Given the description of an element on the screen output the (x, y) to click on. 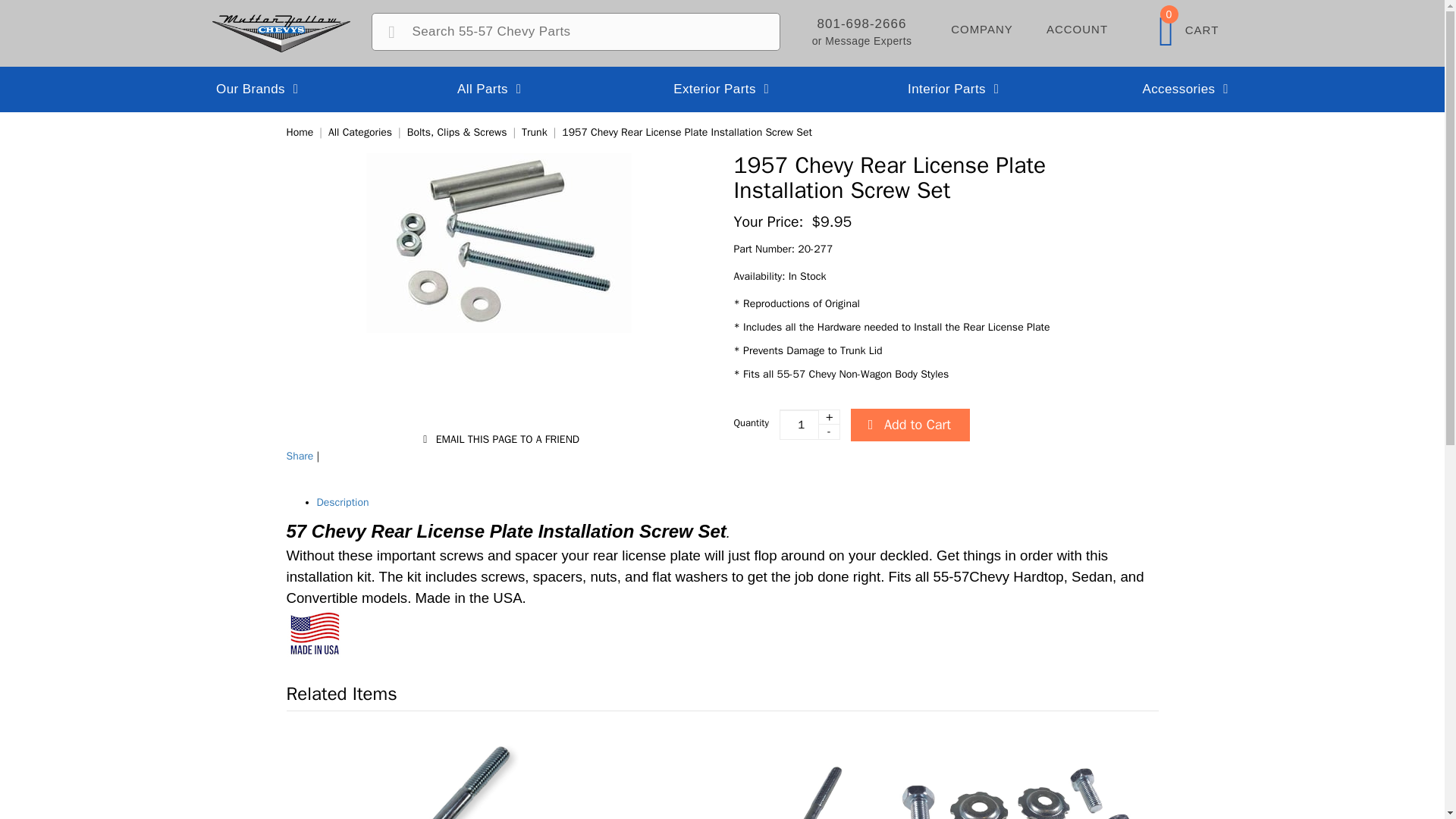
Accessories (1188, 26)
Interior Parts (1185, 89)
EMAIL THIS PAGE TO A FRIEND (954, 89)
All Parts (497, 439)
ACCOUNT (490, 89)
COMPANY (1076, 26)
Share (981, 26)
1957 Chevy Rear License Plate Installation Screw Set (300, 455)
1 (687, 132)
Home (809, 424)
Our Brands (300, 132)
Exterior Parts (257, 89)
Trunk (721, 89)
All Categories (534, 132)
